Given the description of an element on the screen output the (x, y) to click on. 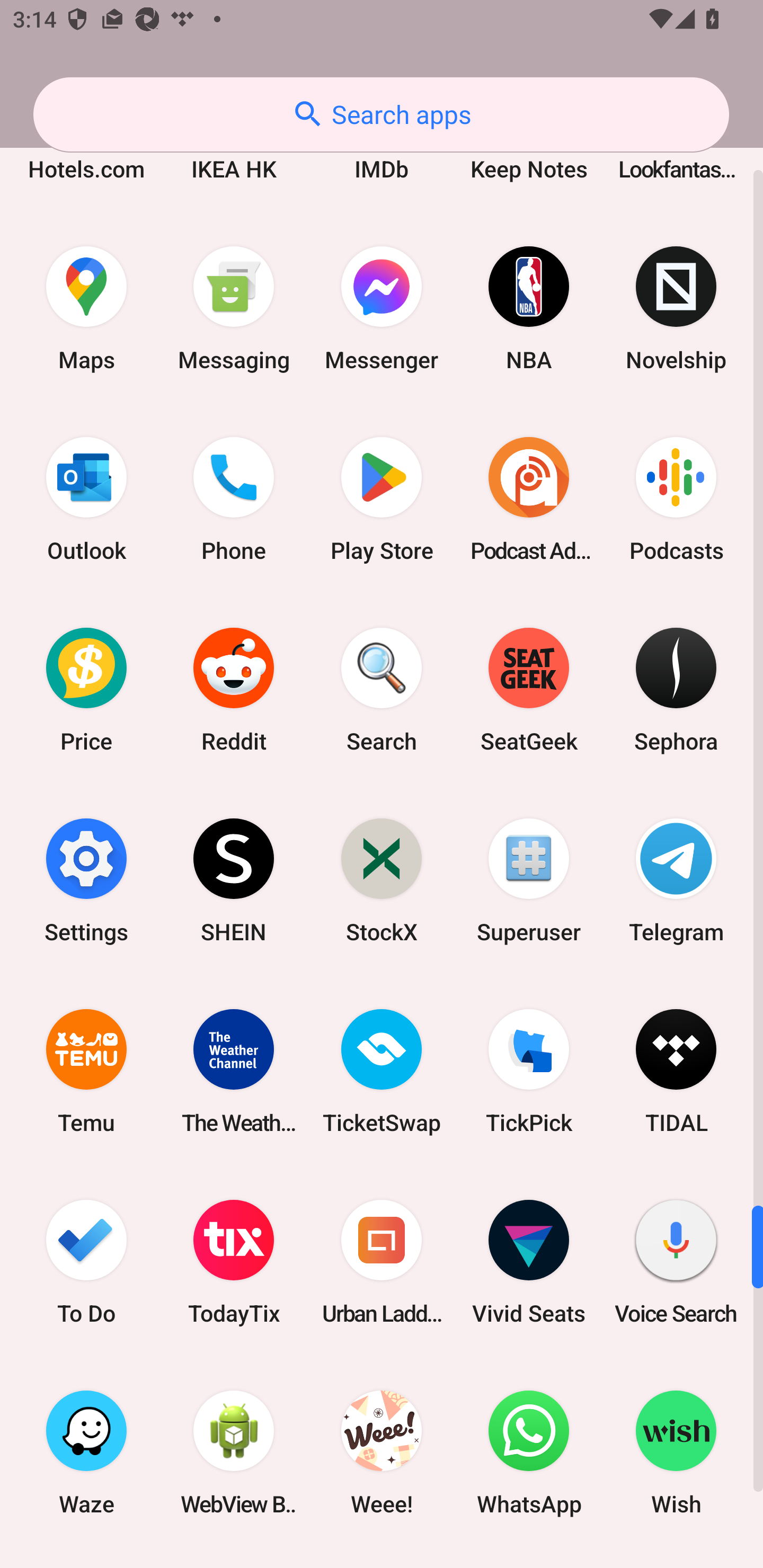
To Do (86, 1261)
